Given the description of an element on the screen output the (x, y) to click on. 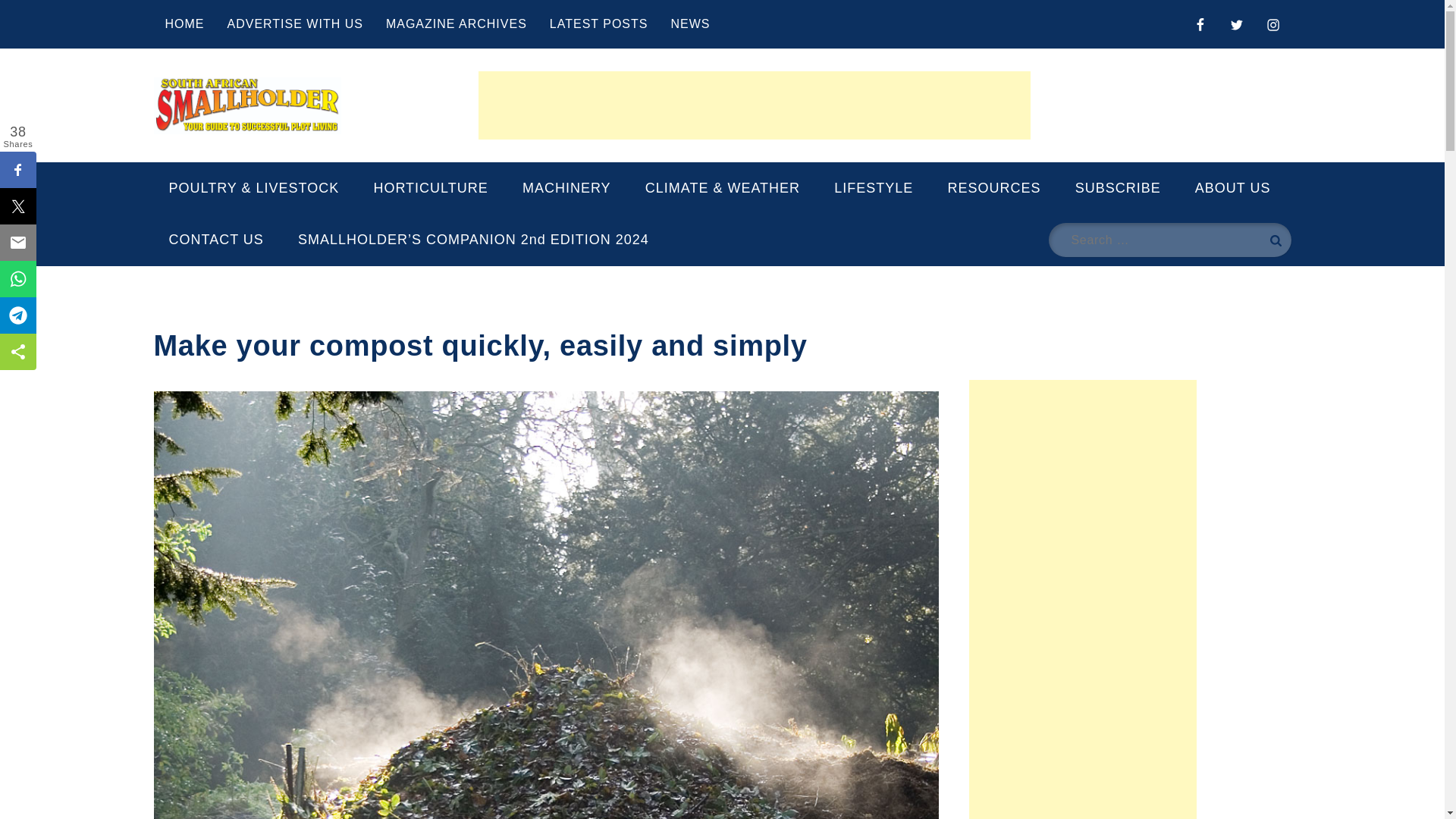
CONTACT US (215, 239)
FACEBOOK (1200, 23)
RESOURCES (993, 187)
MACHINERY (566, 187)
Search (1274, 239)
LATEST POSTS (598, 23)
HOME (183, 23)
Advertisement (754, 105)
NEWS (689, 23)
ADVERTISE WITH US (294, 23)
TWITTER (1236, 23)
SA Smallholder (280, 151)
SUBSCRIBE (1117, 187)
MAGAZINE ARCHIVES (456, 23)
HORTICULTURE (430, 187)
